Given the description of an element on the screen output the (x, y) to click on. 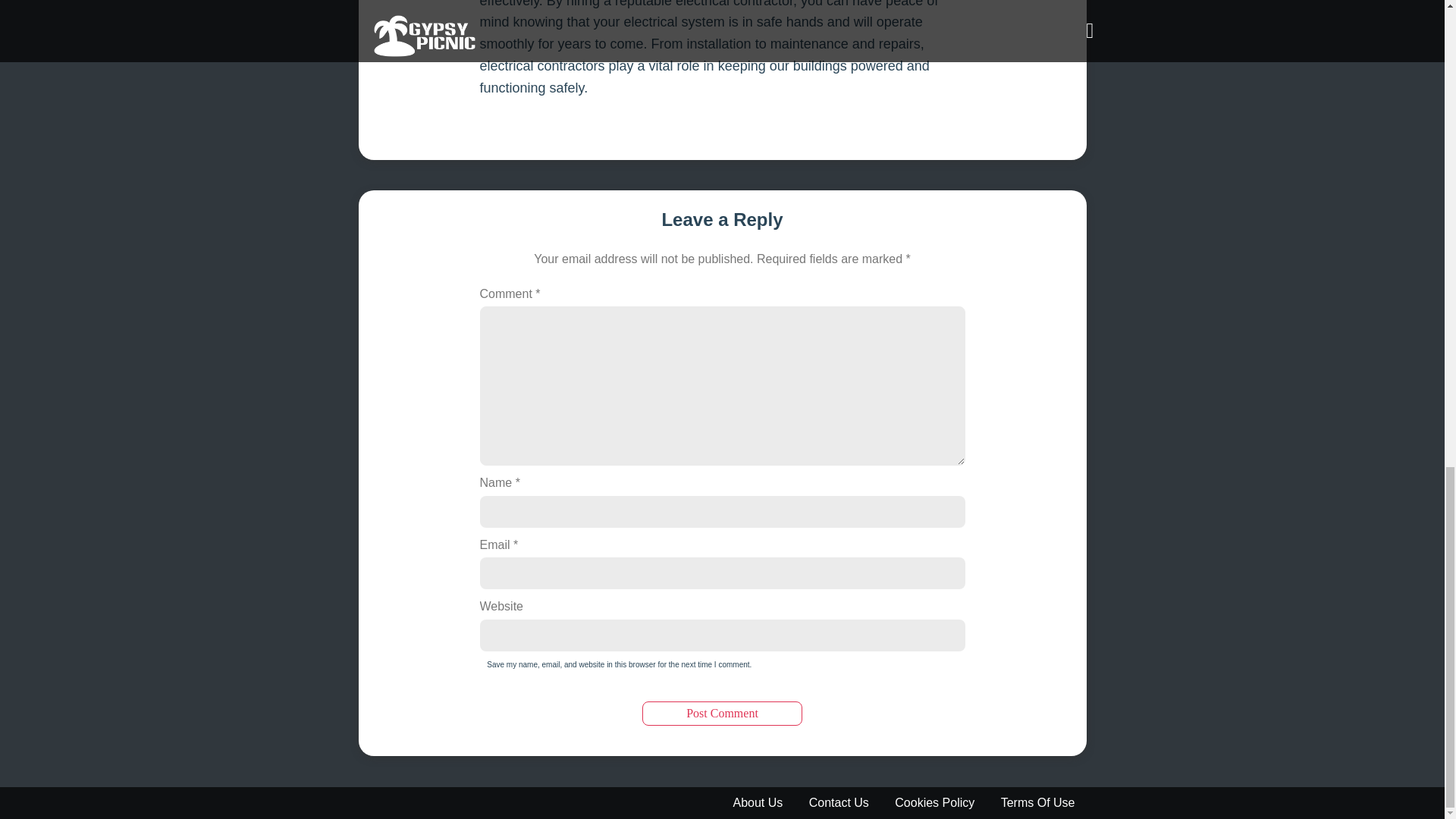
Post Comment (722, 713)
Post Comment (722, 713)
